Given the description of an element on the screen output the (x, y) to click on. 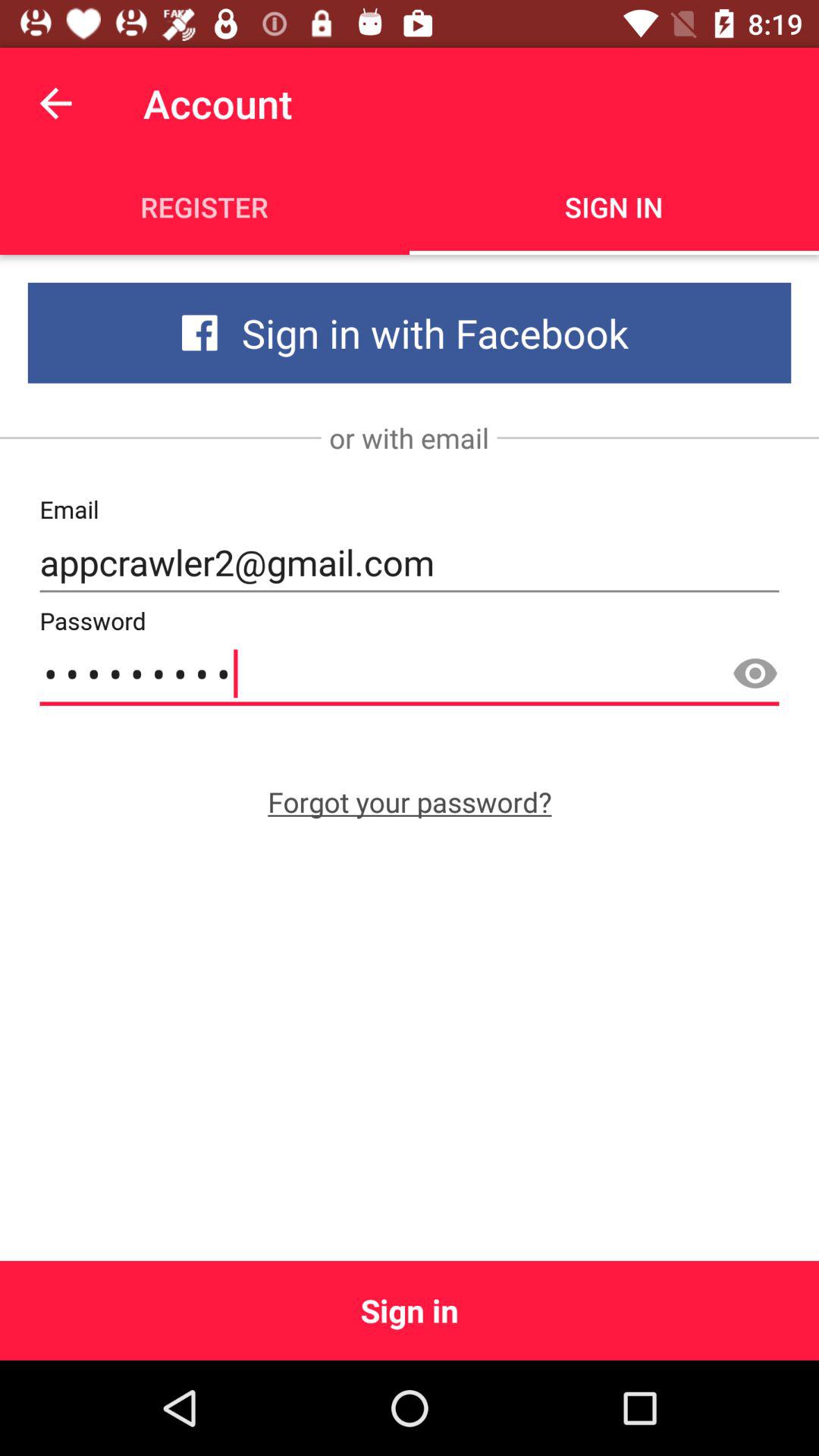
show password (755, 673)
